Given the description of an element on the screen output the (x, y) to click on. 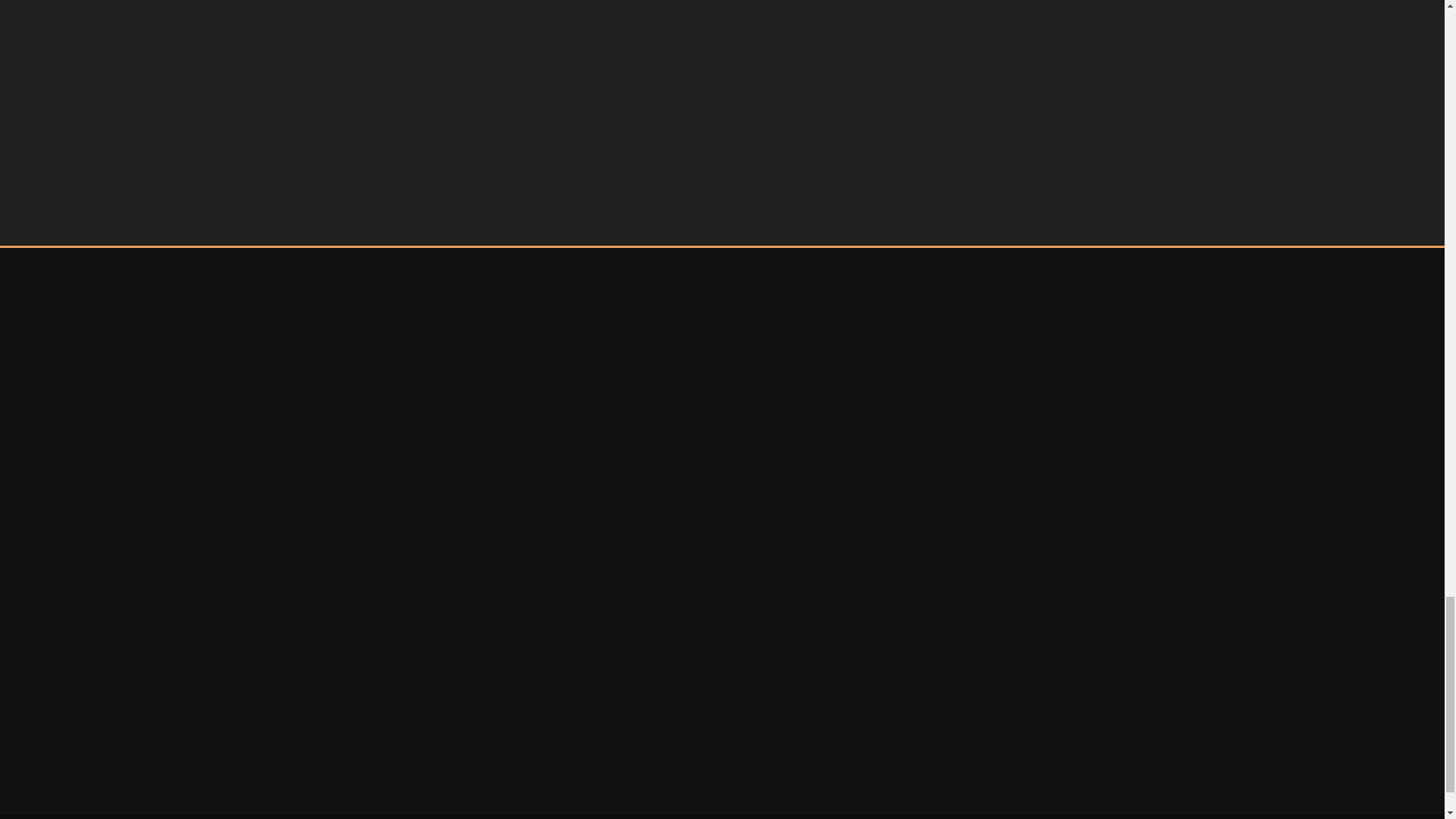
Submit (360, 133)
